Given the description of an element on the screen output the (x, y) to click on. 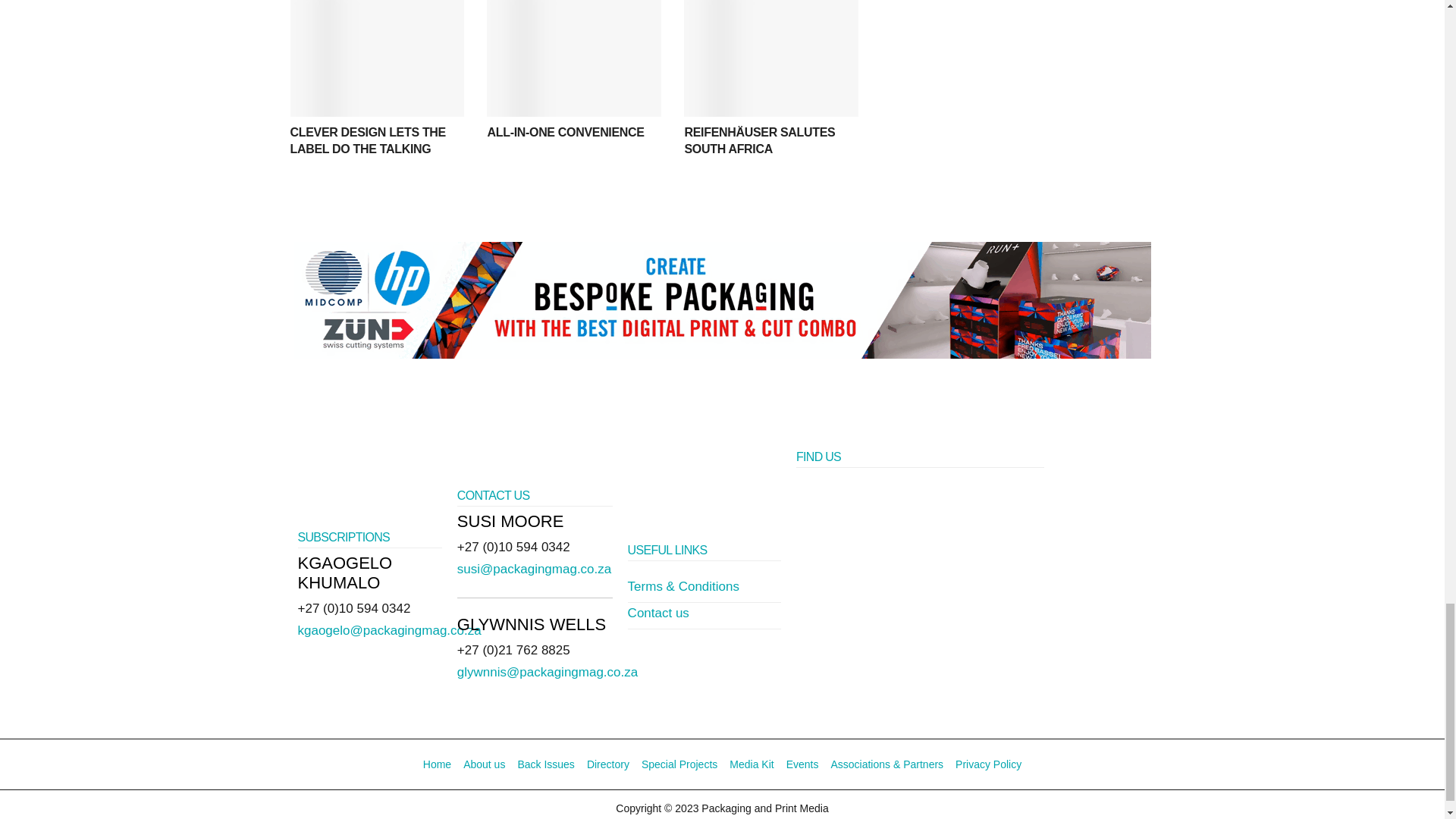
Fountain Grove 5 2nd Rd, Hyde Park, Johannesburg, 2194 (919, 602)
